Given the description of an element on the screen output the (x, y) to click on. 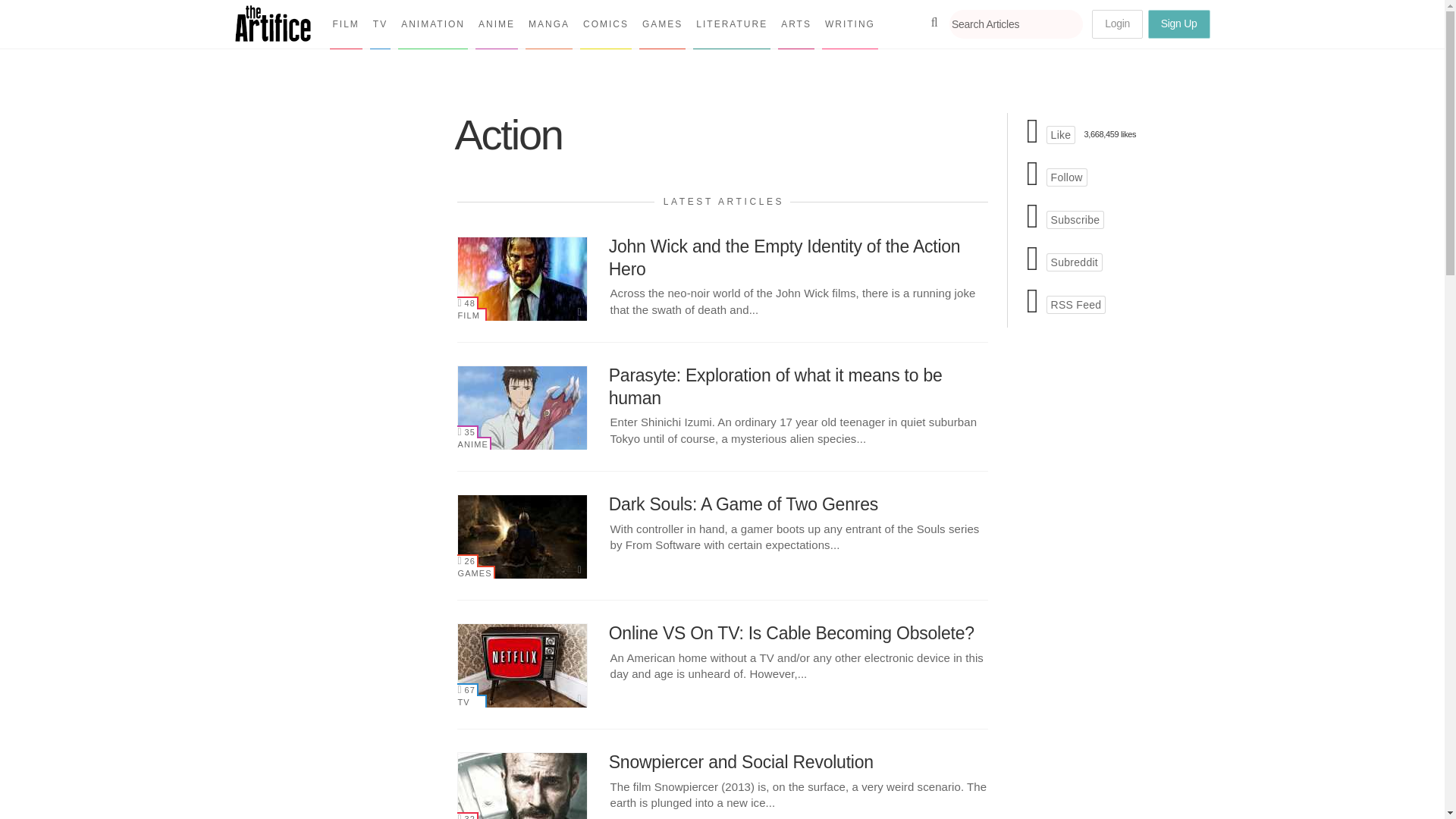
48 (468, 302)
Sign Up (1178, 23)
FILM (471, 314)
LITERATURE (731, 24)
The Artifice (272, 37)
MANGA (548, 24)
COMICS (605, 24)
Login (1117, 23)
GAMES (662, 24)
